Given the description of an element on the screen output the (x, y) to click on. 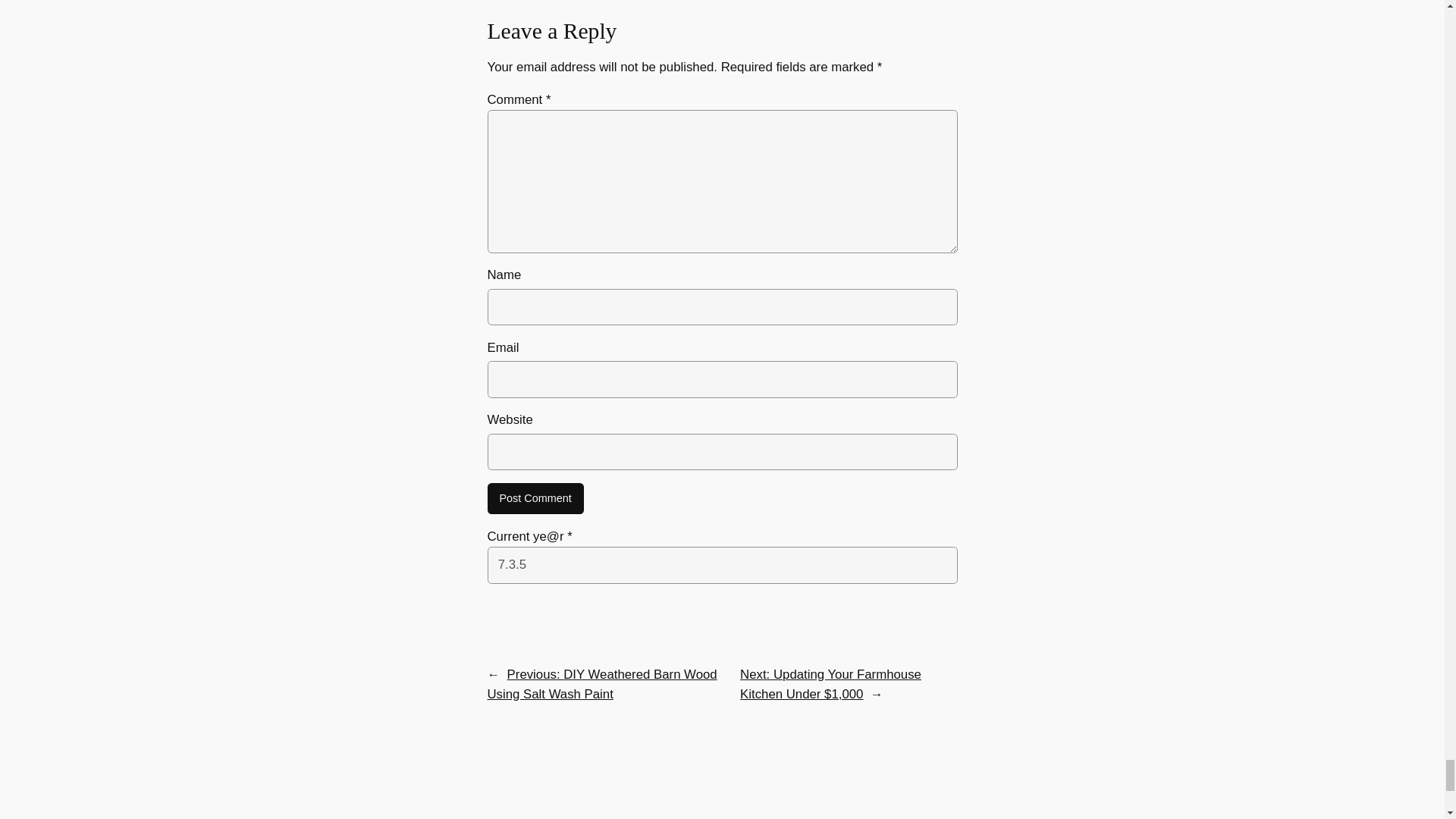
Post Comment (534, 499)
7.3.5 (721, 565)
